Given the description of an element on the screen output the (x, y) to click on. 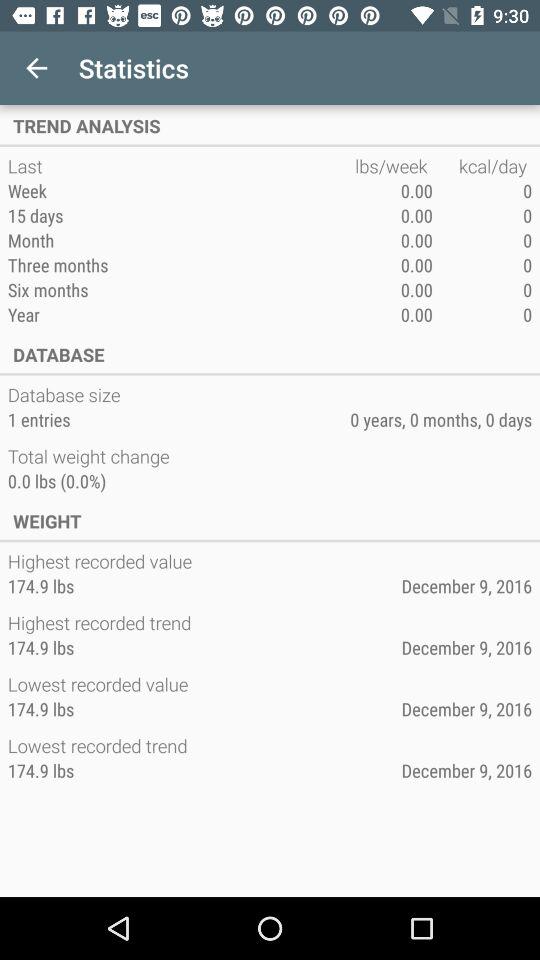
open the item above 1 entries item (66, 394)
